Given the description of an element on the screen output the (x, y) to click on. 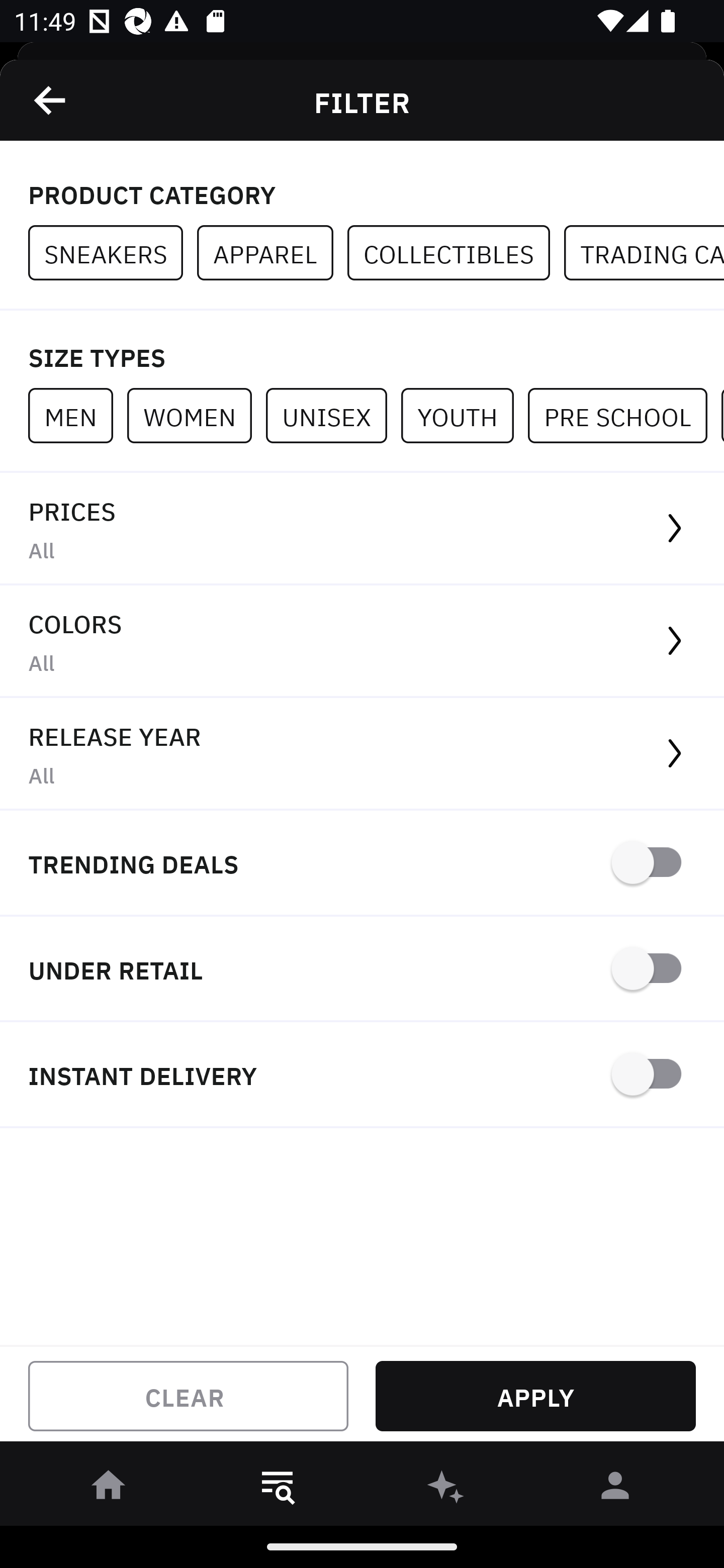
 (50, 100)
SNEAKERS (112, 252)
APPAREL (271, 252)
COLLECTIBLES (455, 252)
TRADING CARDS (643, 252)
MEN (77, 415)
WOMEN (196, 415)
UNISEX (333, 415)
YOUTH (464, 415)
PRE SCHOOL (624, 415)
PRICES All (362, 528)
COLORS All (362, 640)
RELEASE YEAR All (362, 753)
TRENDING DEALS (362, 863)
UNDER RETAIL (362, 969)
INSTANT DELIVERY (362, 1075)
CLEAR  (188, 1396)
APPLY (535, 1396)
󰋜 (108, 1488)
󱎸 (277, 1488)
󰫢 (446, 1488)
󰀄 (615, 1488)
